Given the description of an element on the screen output the (x, y) to click on. 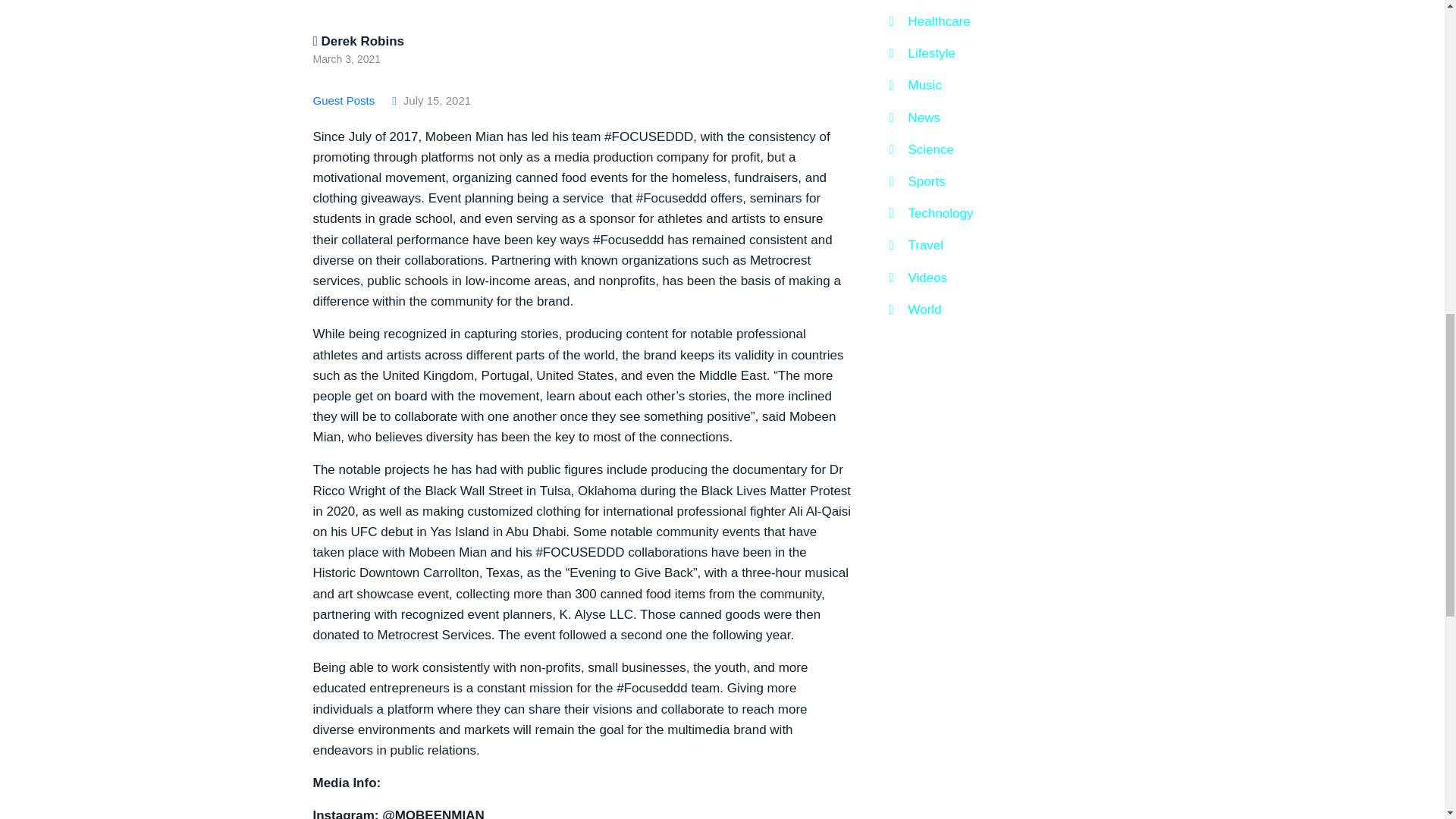
Music (914, 85)
Guest Posts (346, 100)
Lifestyle (921, 53)
Healthcare (928, 21)
Derek Robins (358, 41)
News (914, 117)
